Given the description of an element on the screen output the (x, y) to click on. 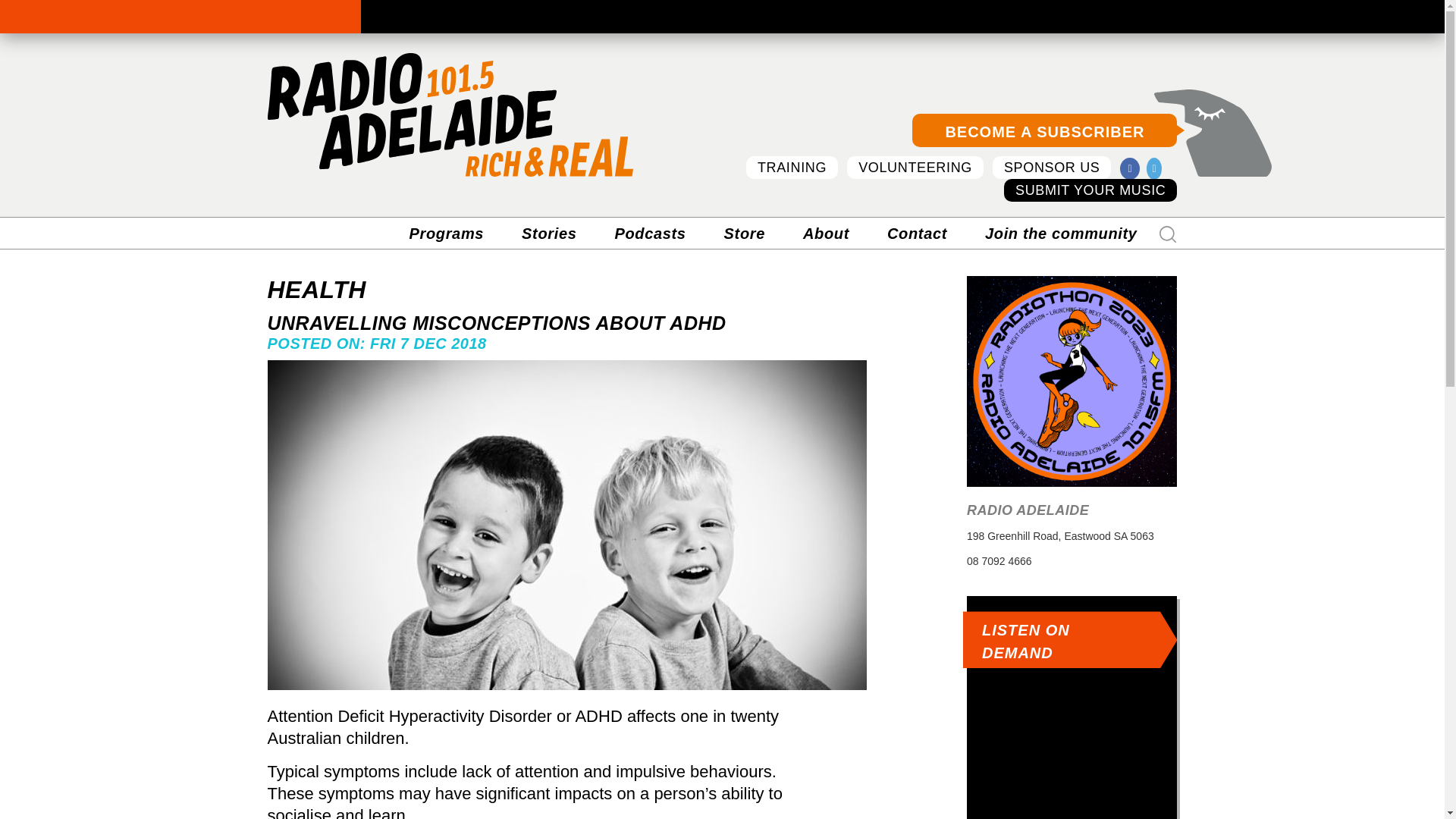
Podcasts (649, 232)
SPONSOR US (1052, 167)
Join the community (1061, 232)
VOLUNTEERING (915, 167)
Read more about Radiothon 2023 (1071, 381)
Programs (446, 232)
Stories (548, 232)
SUBMIT YOUR MUSIC (1090, 190)
Store (744, 232)
About (825, 232)
TRAINING (791, 167)
BECOME A SUBSCRIBER (1044, 130)
Contact (916, 232)
Search (1167, 234)
